Given the description of an element on the screen output the (x, y) to click on. 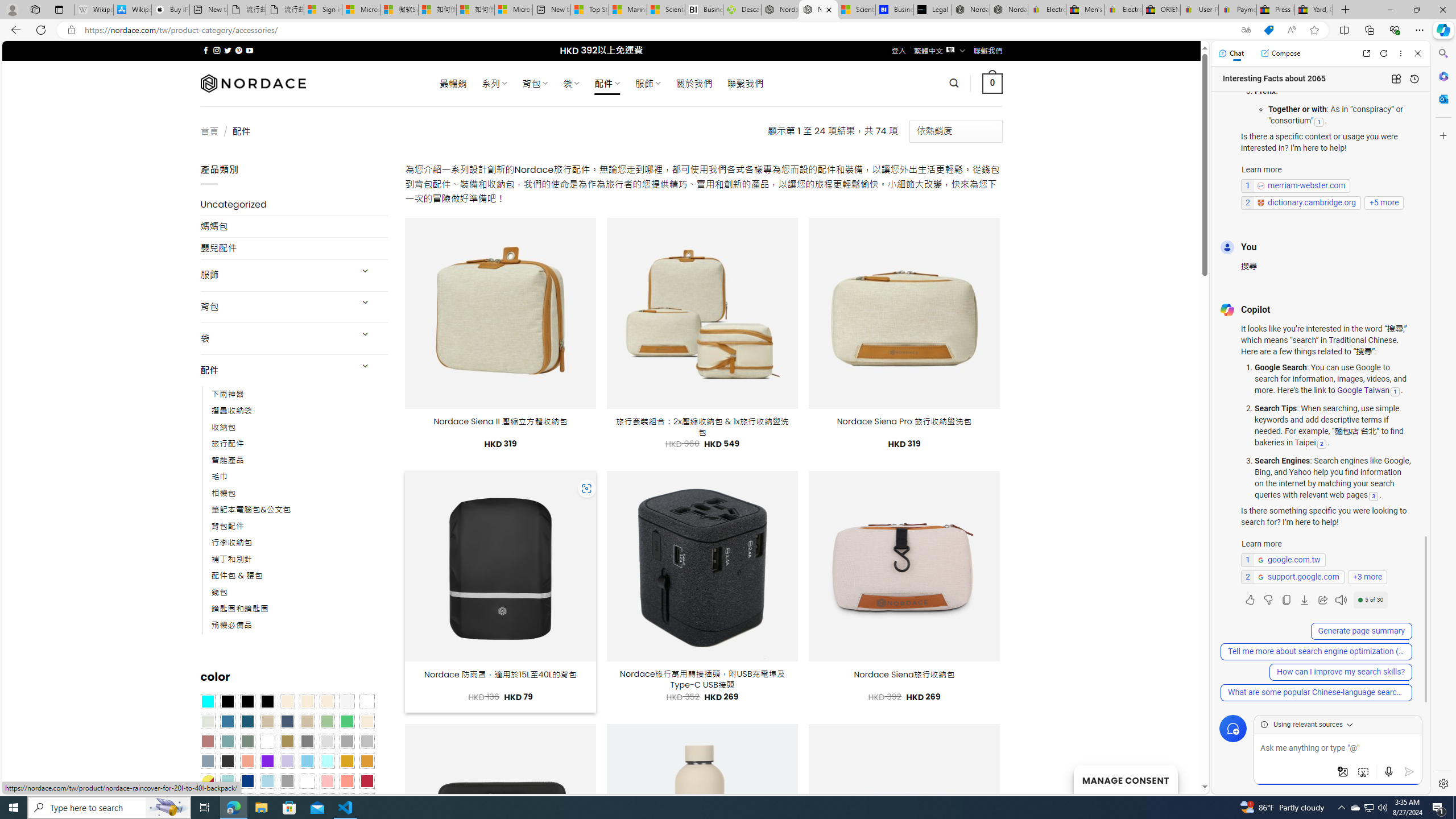
Nordace - Summer Adventures 2024 (780, 9)
Sign in to your Microsoft account (322, 9)
Follow on YouTube (249, 50)
Follow on Pinterest (237, 50)
